Given the description of an element on the screen output the (x, y) to click on. 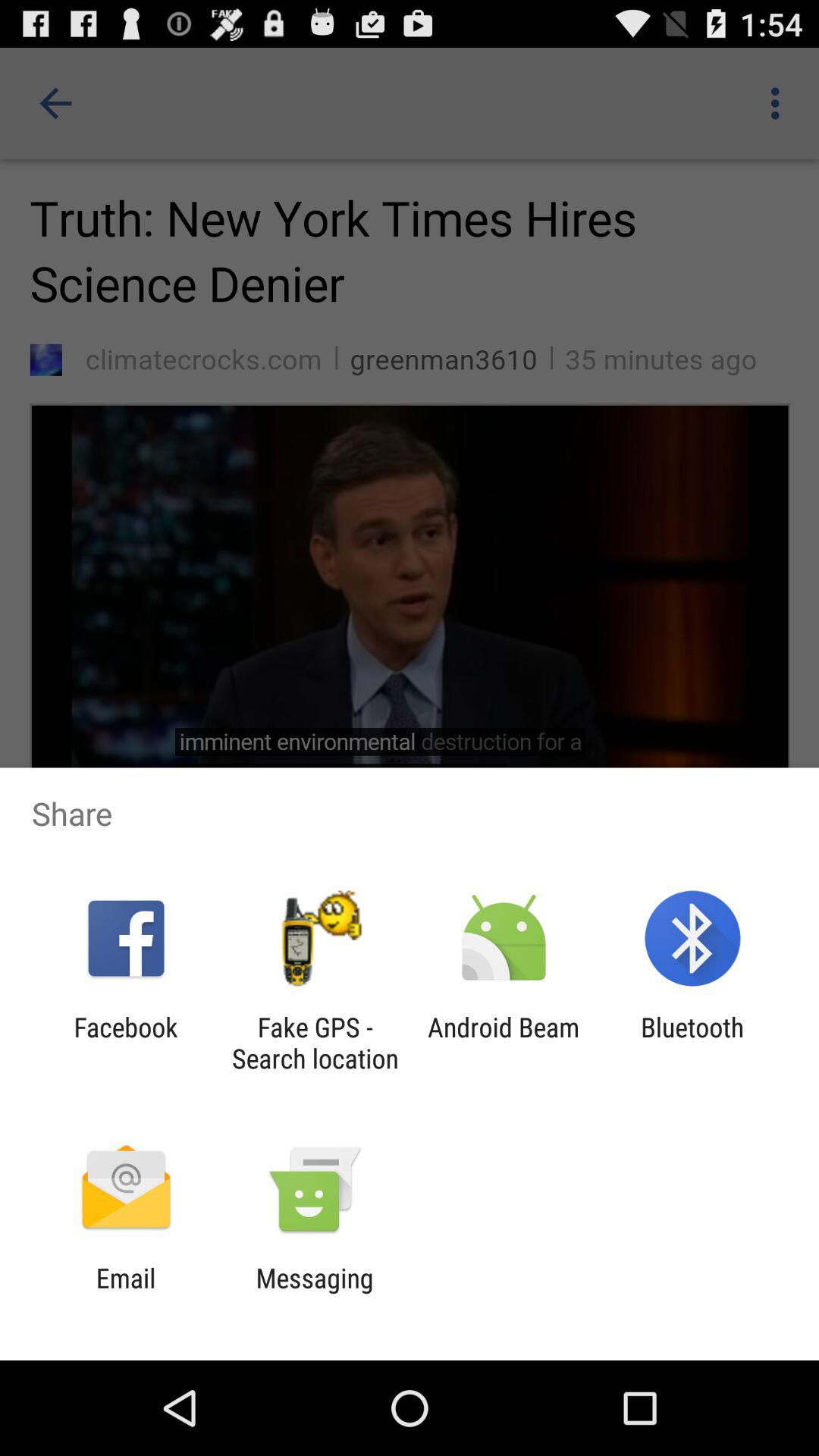
turn off item to the left of the android beam item (314, 1042)
